Given the description of an element on the screen output the (x, y) to click on. 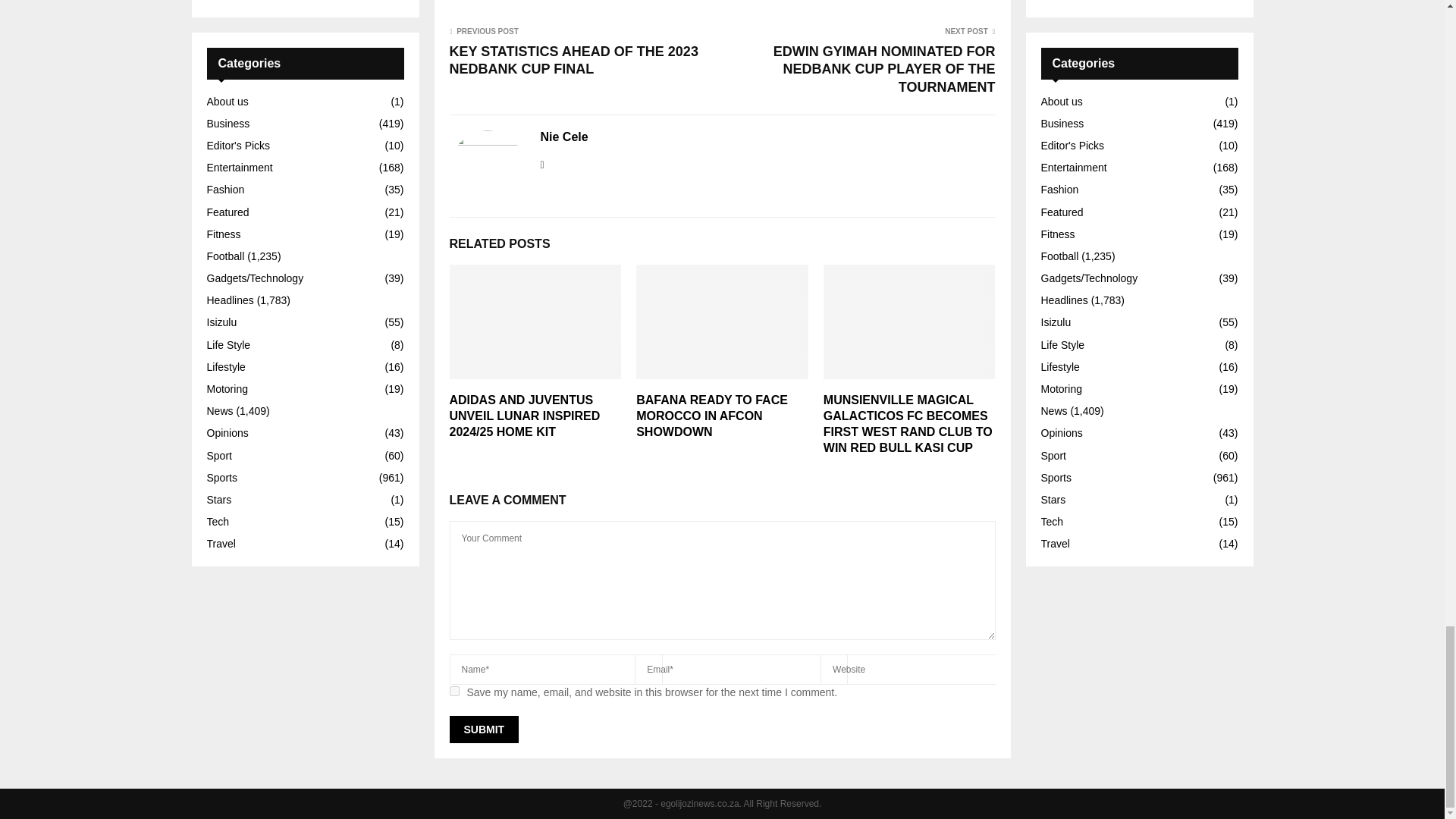
Submit (483, 728)
yes (453, 691)
